Given the description of an element on the screen output the (x, y) to click on. 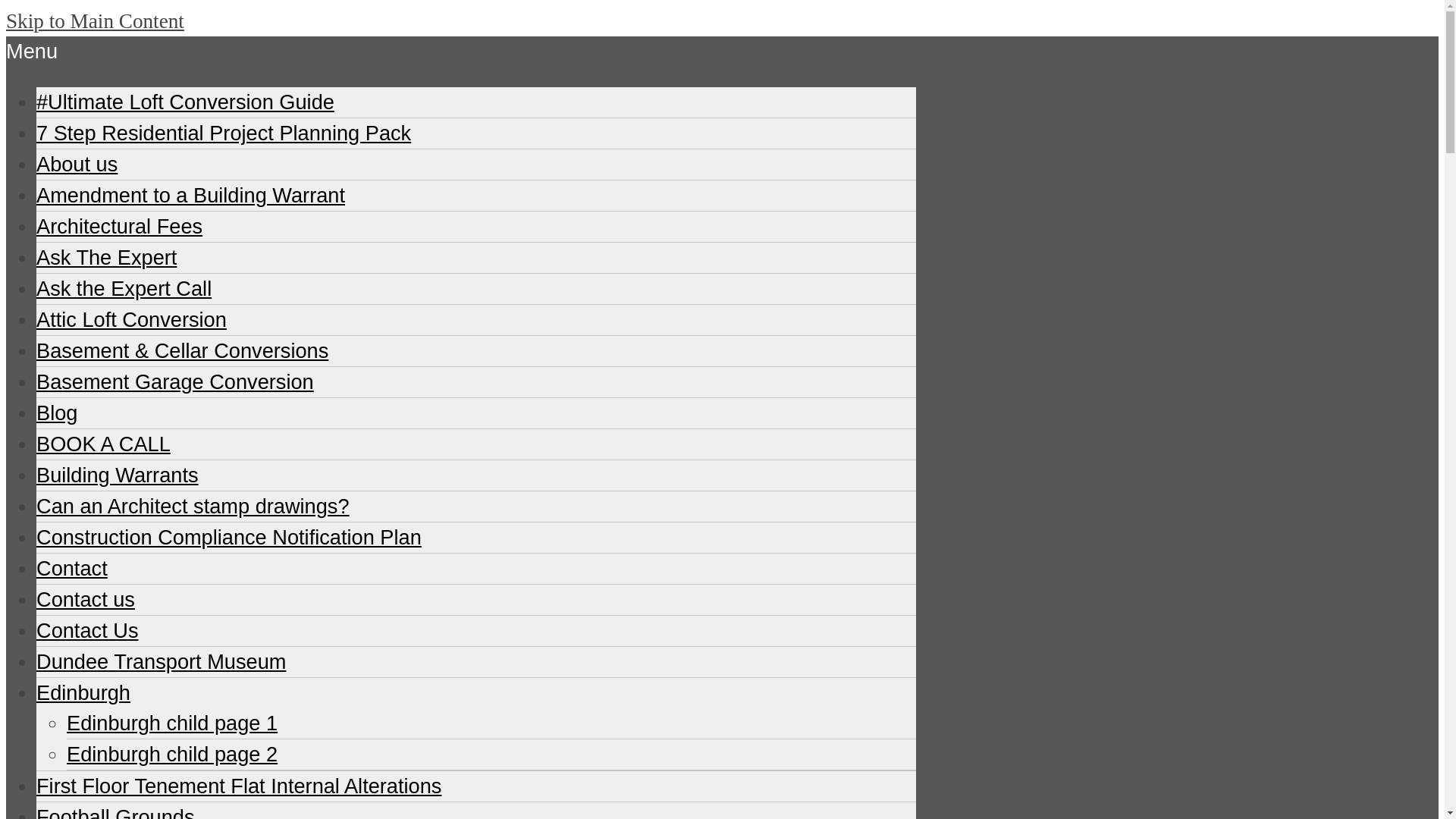
First Floor Tenement Flat Internal Alterations (238, 785)
Dundee Transport Museum (160, 661)
Architectural Fees (119, 226)
Edinburgh child page 2 (172, 753)
Construction Compliance Notification Plan (229, 536)
Contact Us (87, 630)
Skip to Main Content (94, 20)
Contact us (85, 599)
Can an Architect stamp drawings? (192, 505)
Ask The Expert (106, 257)
7 Step Residential Project Planning Pack (223, 132)
Ask the Expert Call (123, 288)
Building Warrants (117, 474)
Edinburgh child page 1 (172, 722)
Basement Garage Conversion (175, 381)
